Given the description of an element on the screen output the (x, y) to click on. 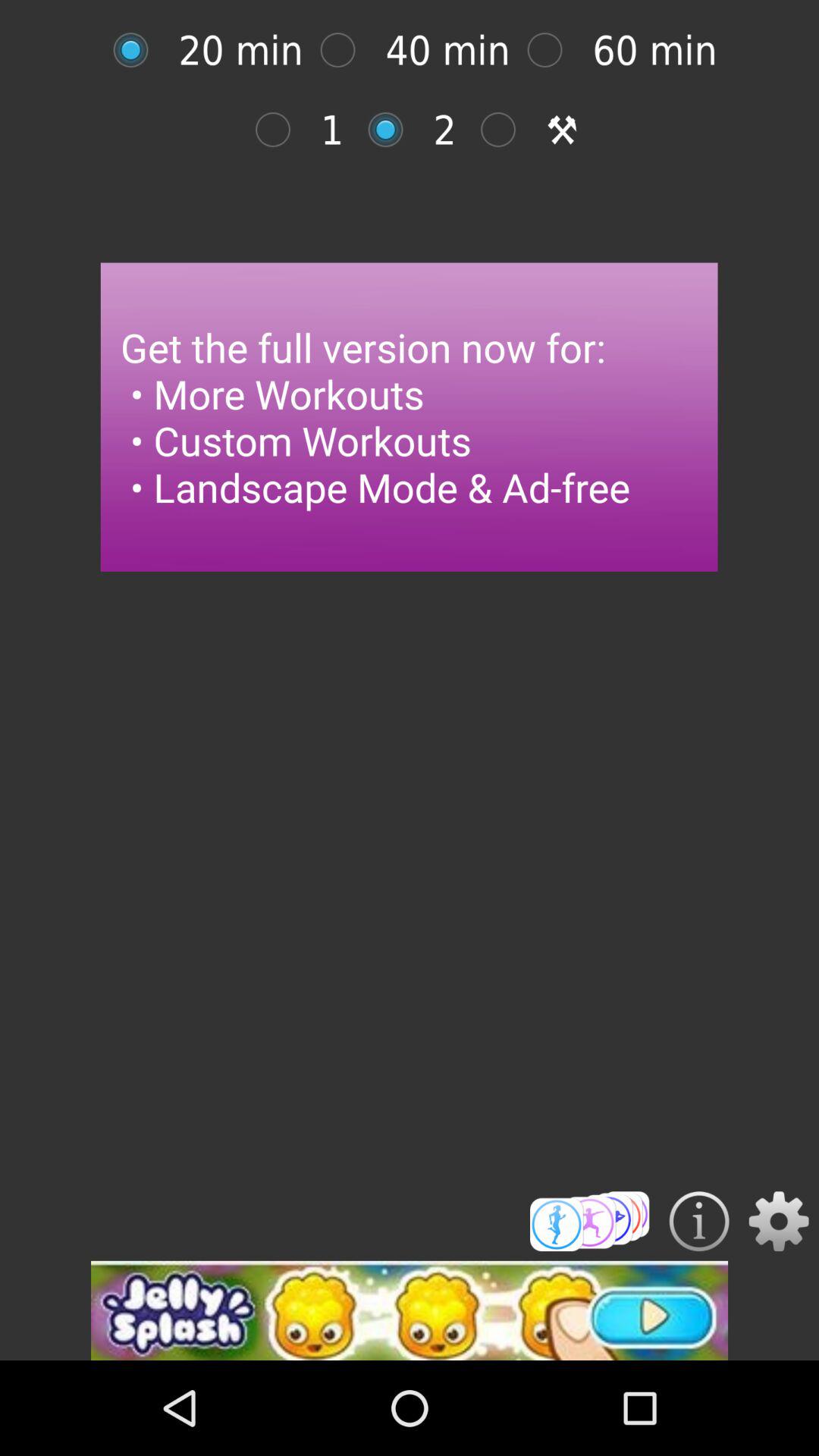
select 1 (280, 129)
